Given the description of an element on the screen output the (x, y) to click on. 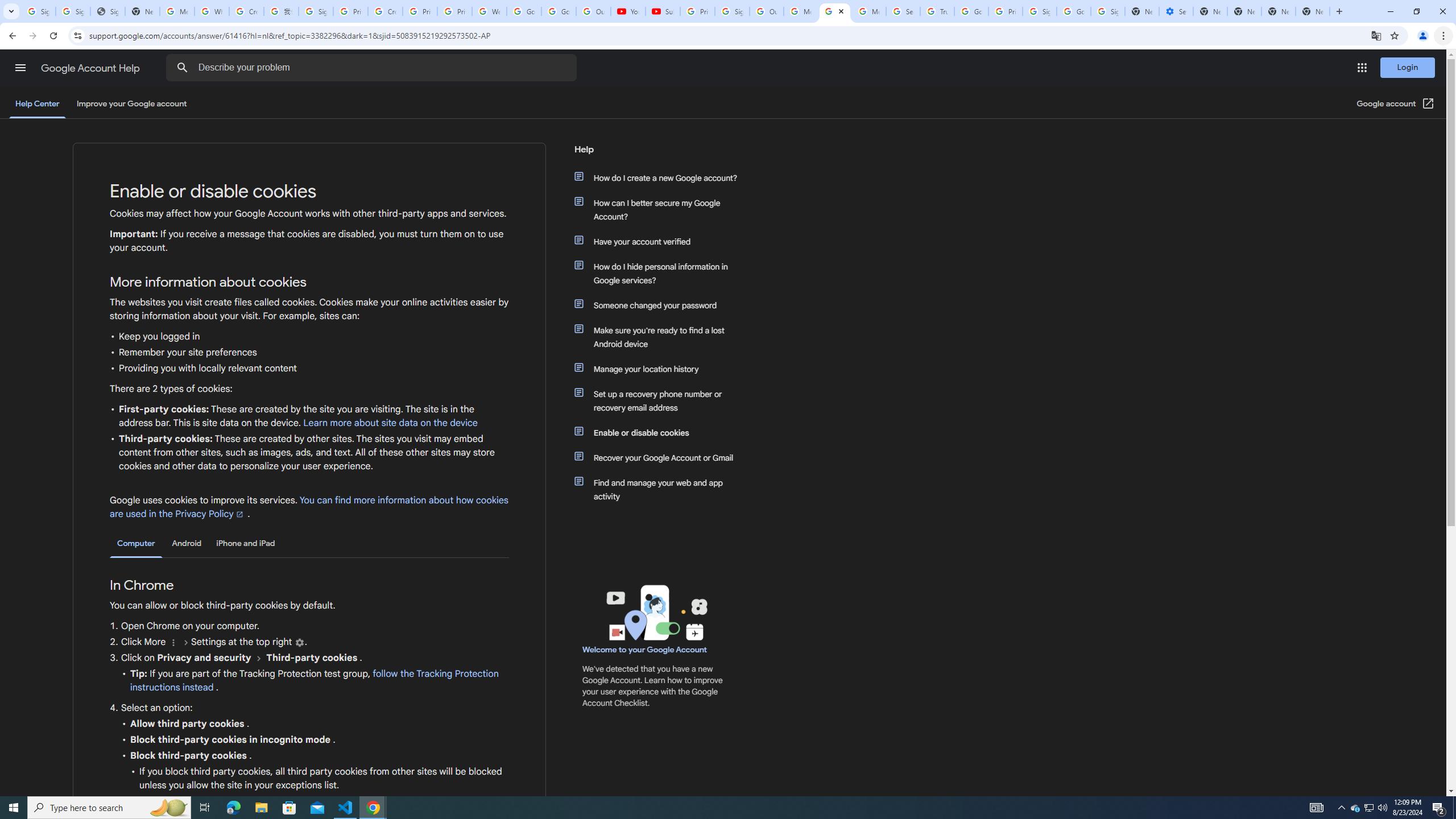
Help Center (36, 103)
Search the Help Center (181, 67)
Google Ads - Sign in (970, 11)
Turn cookies on or off - Computer - Google Account Help (834, 11)
More (173, 642)
Create your Google Account (246, 11)
Google Cybersecurity Innovations - Google Safety Center (1073, 11)
Google Account (Opens in new window) (1395, 103)
Welcome to My Activity (489, 11)
Improve your Google account (131, 103)
